Given the description of an element on the screen output the (x, y) to click on. 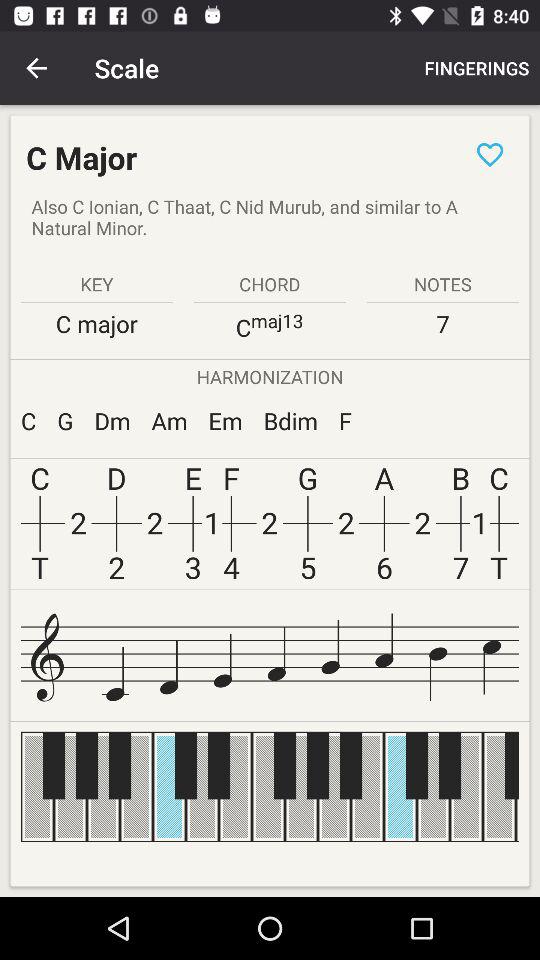
select the icon next to the c major (490, 154)
